Given the description of an element on the screen output the (x, y) to click on. 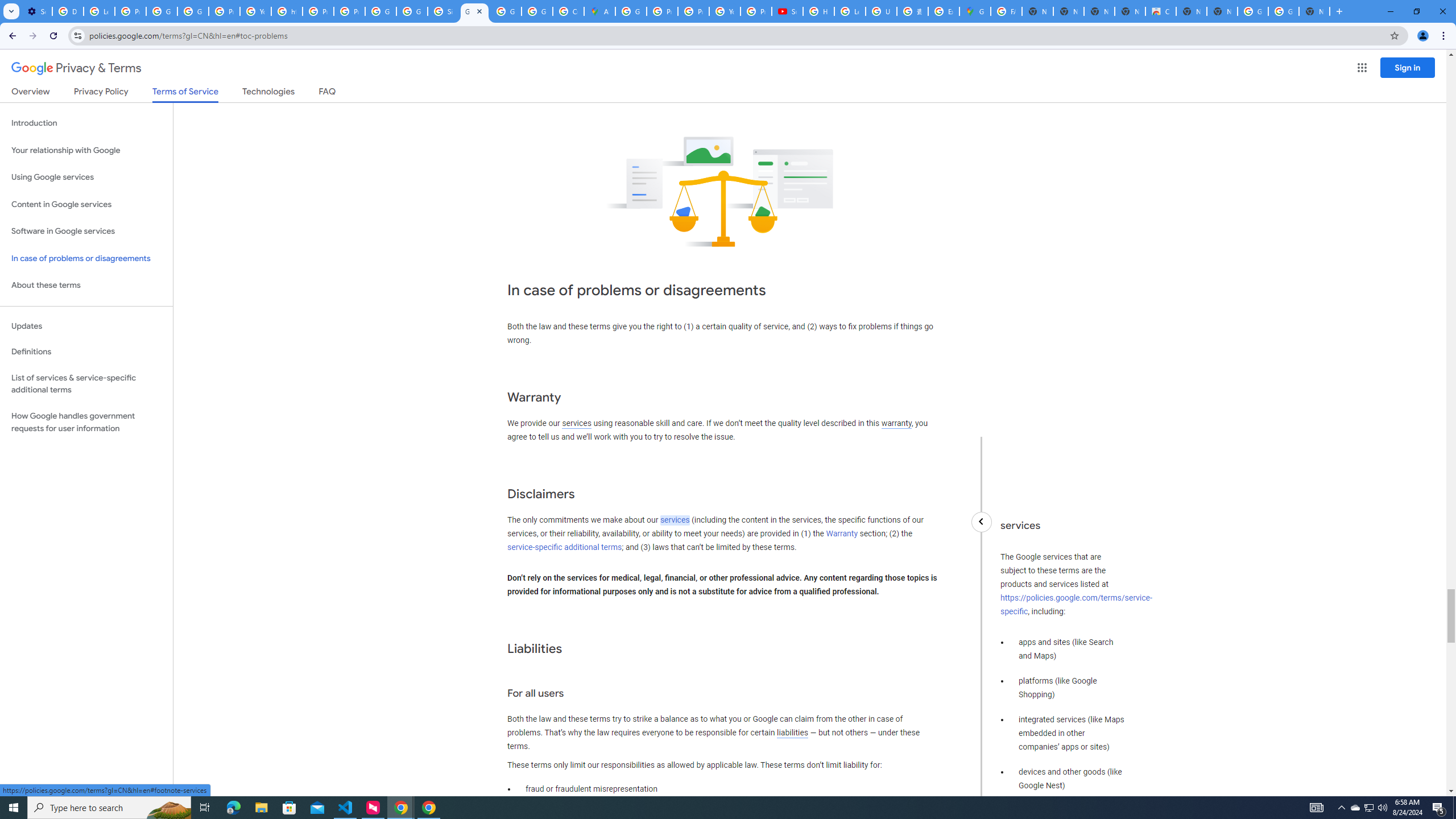
Your relationship with Google (86, 150)
liabilities (792, 732)
Privacy Help Center - Policies Help (662, 11)
Software in Google services (86, 230)
YouTube (255, 11)
Content in Google services (86, 204)
